Given the description of an element on the screen output the (x, y) to click on. 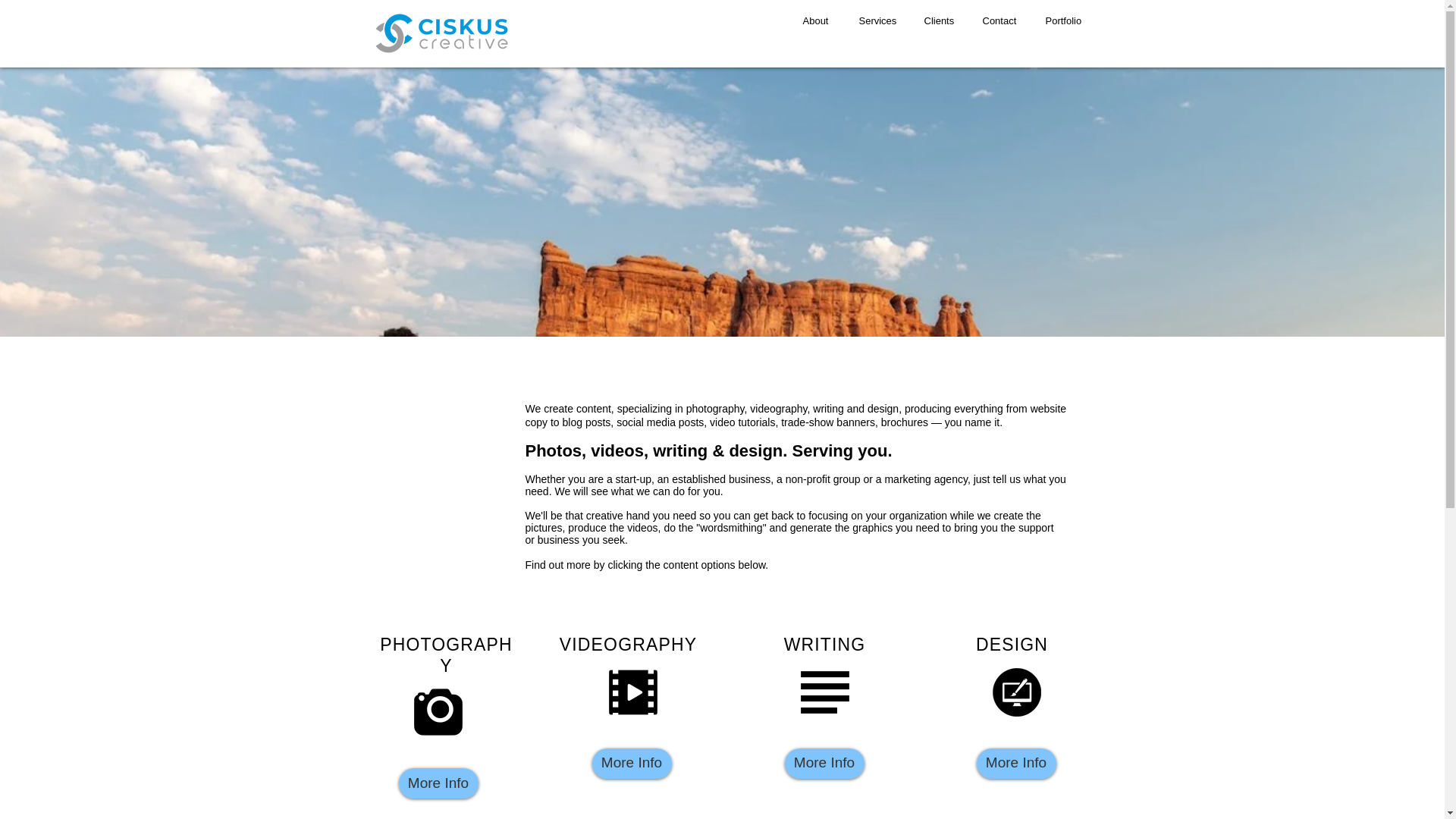
More Info (631, 763)
More Info (438, 783)
About (815, 20)
Services (875, 20)
Clients (937, 20)
More Info (1016, 763)
Portfolio (1061, 20)
Contact (999, 20)
More Info (823, 763)
